Given the description of an element on the screen output the (x, y) to click on. 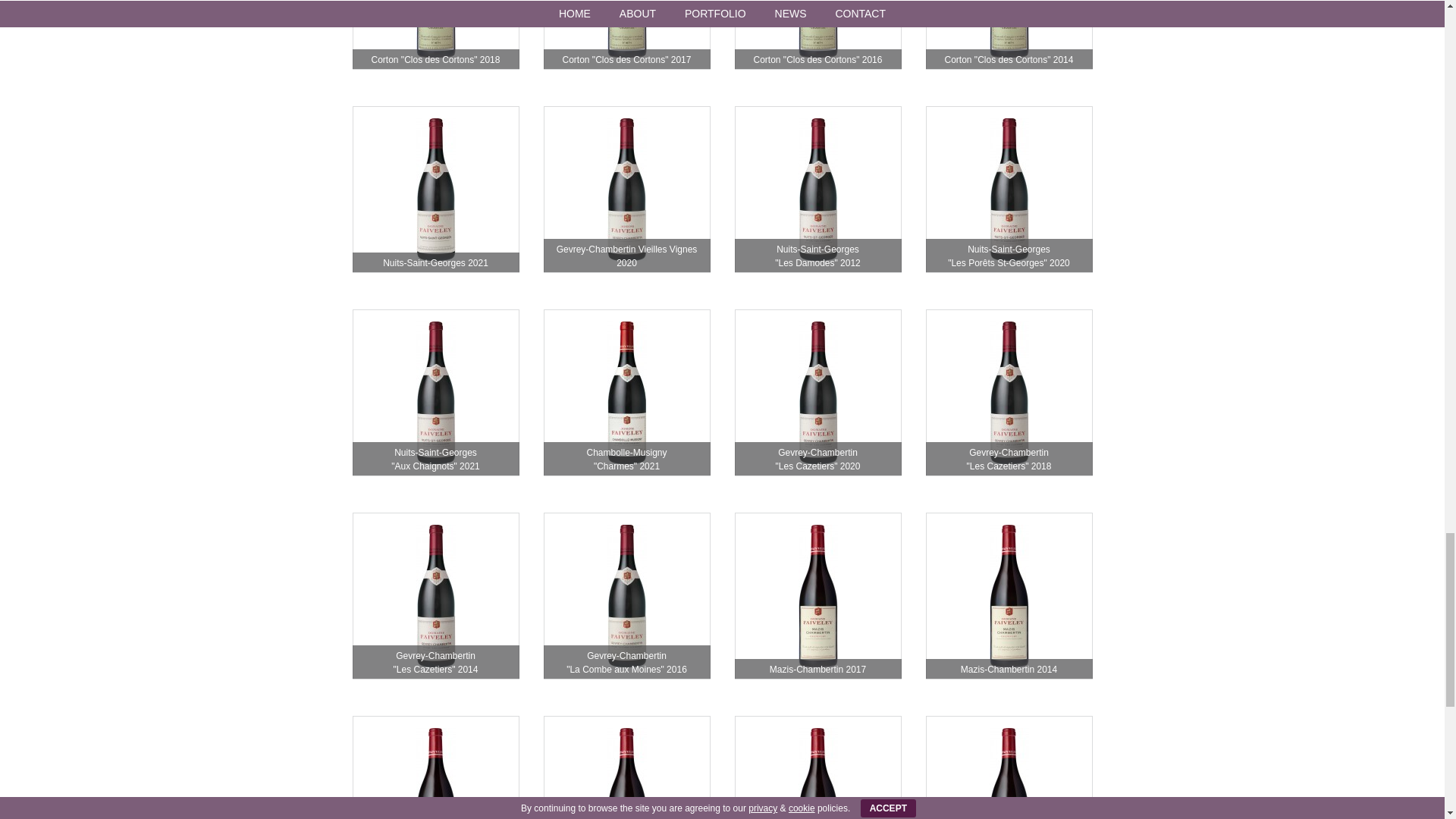
Corton "Clos des Cortons" 2014 (1008, 34)
Corton "Clos des Cortons" 2017 (626, 34)
Corton "Clos des Cortons" 2018 (435, 34)
Corton "Clos des Cortons" 2016 (817, 34)
Nuits-Saint-Georges 2021 (435, 189)
